Given the description of an element on the screen output the (x, y) to click on. 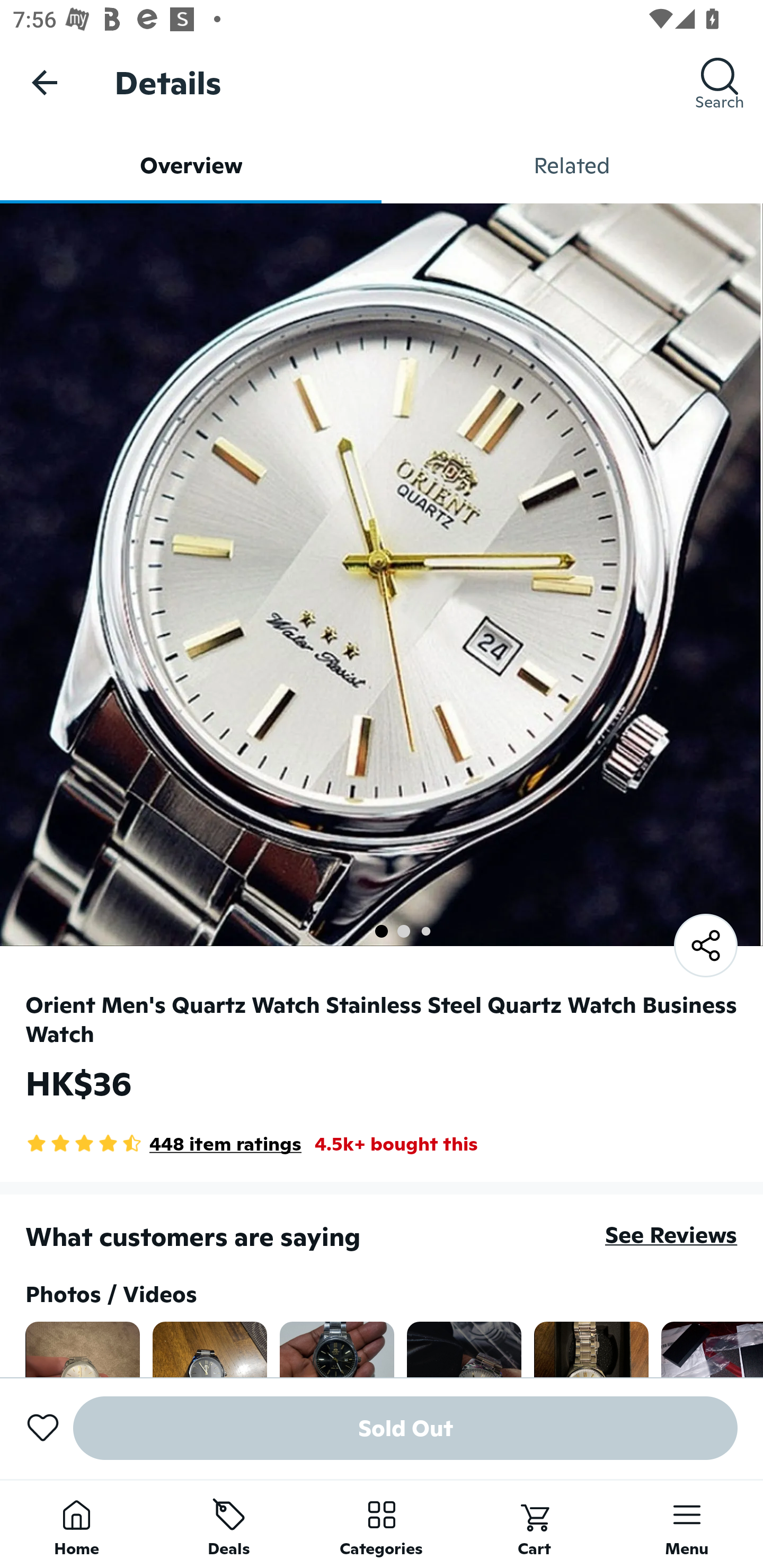
Navigate up (44, 82)
Search (719, 82)
Related (572, 165)
4.6 Star Rating 448 item ratings (163, 1143)
See Reviews (671, 1234)
Sold Out (405, 1428)
Home (76, 1523)
Deals (228, 1523)
Categories (381, 1523)
Cart (533, 1523)
Menu (686, 1523)
